Given the description of an element on the screen output the (x, y) to click on. 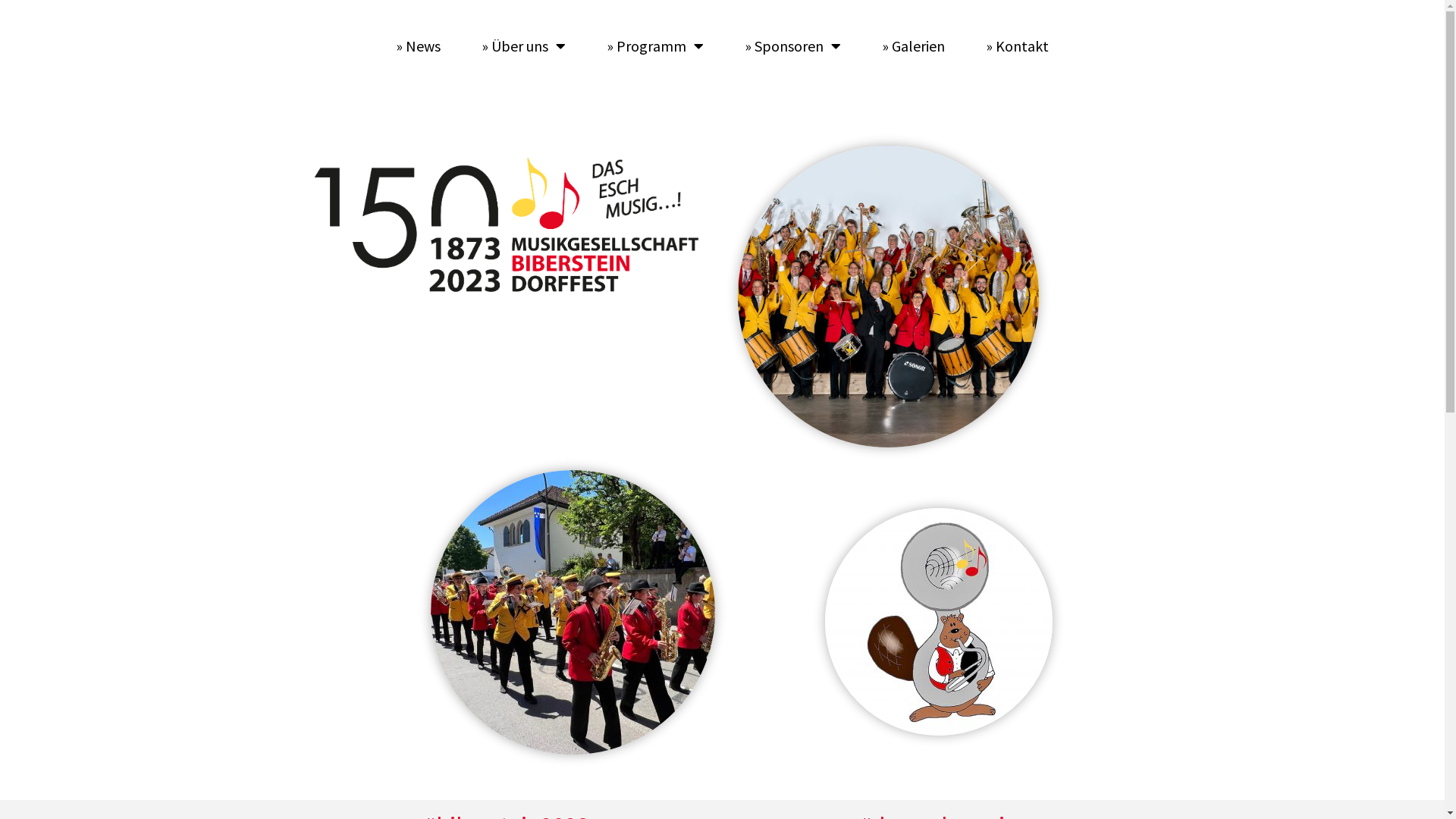
final Maskottchen2 breit Element type: hover (938, 621)
Musiktag in Niederwil 2022 Element type: hover (572, 612)
